Given the description of an element on the screen output the (x, y) to click on. 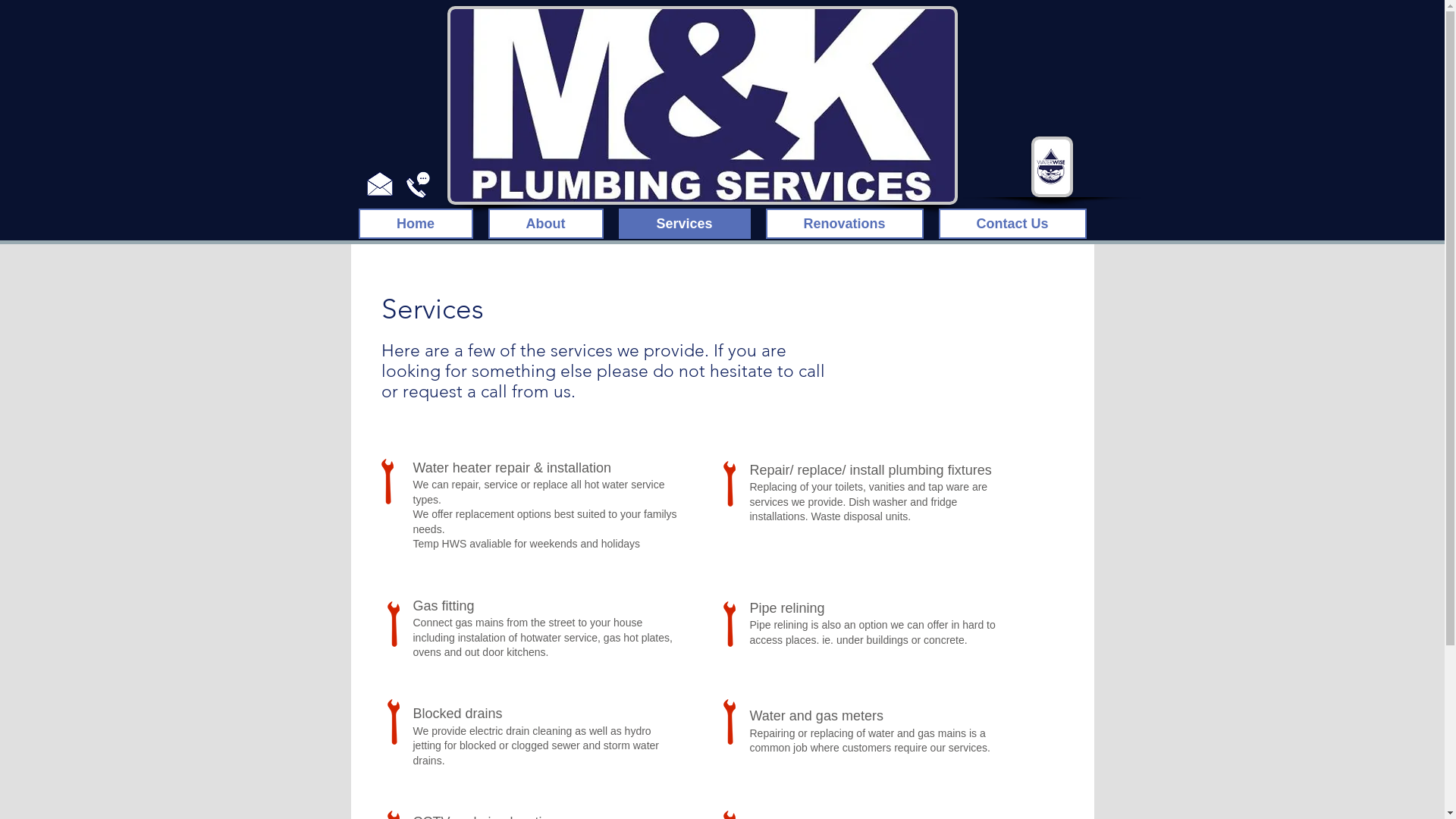
Contact Us Element type: text (1012, 223)
About Element type: text (545, 223)
Renovations Element type: text (844, 223)
Services Element type: text (684, 223)
Home Element type: text (414, 223)
